Given the description of an element on the screen output the (x, y) to click on. 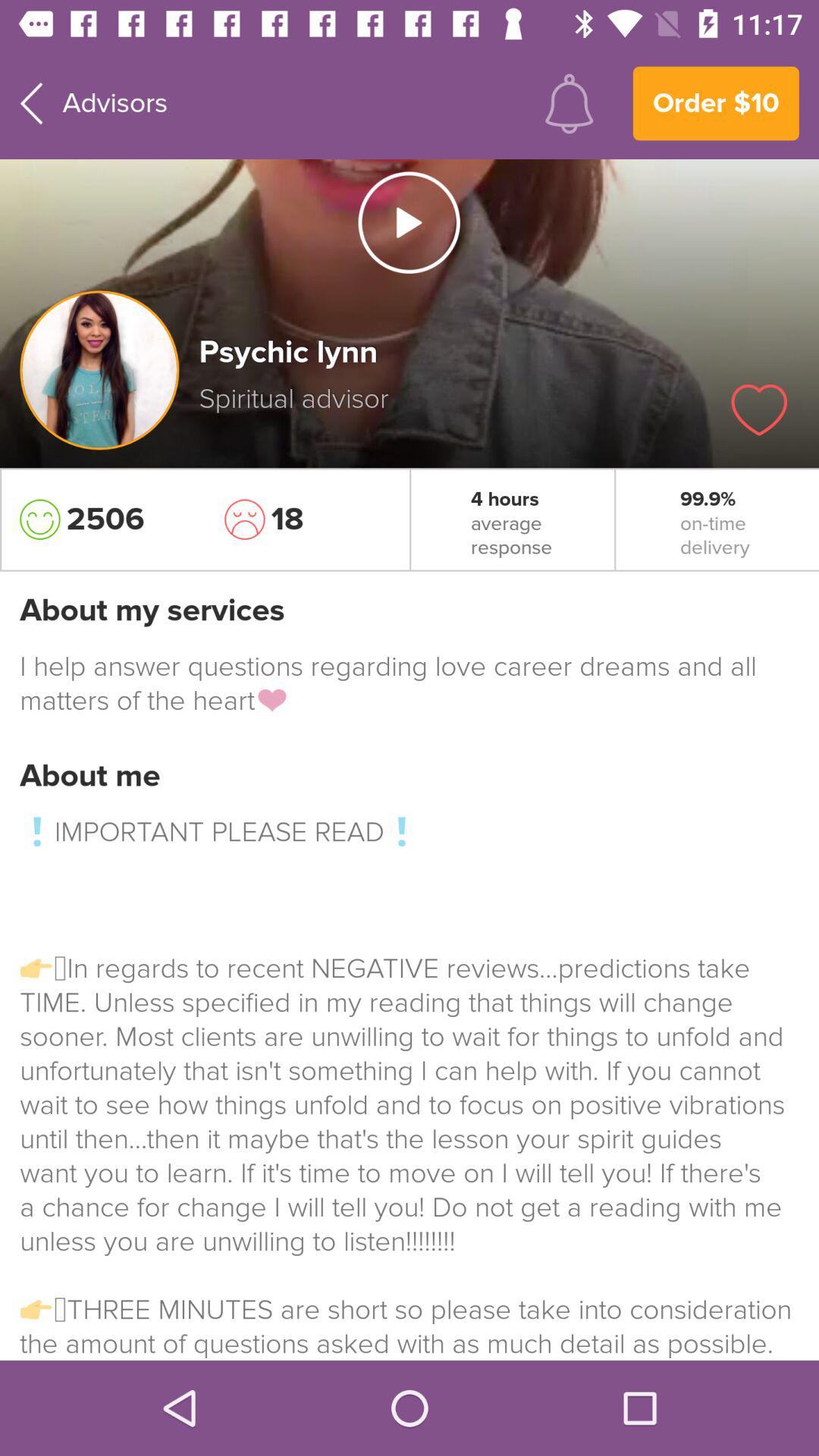
flip until the order $10 item (716, 103)
